Given the description of an element on the screen output the (x, y) to click on. 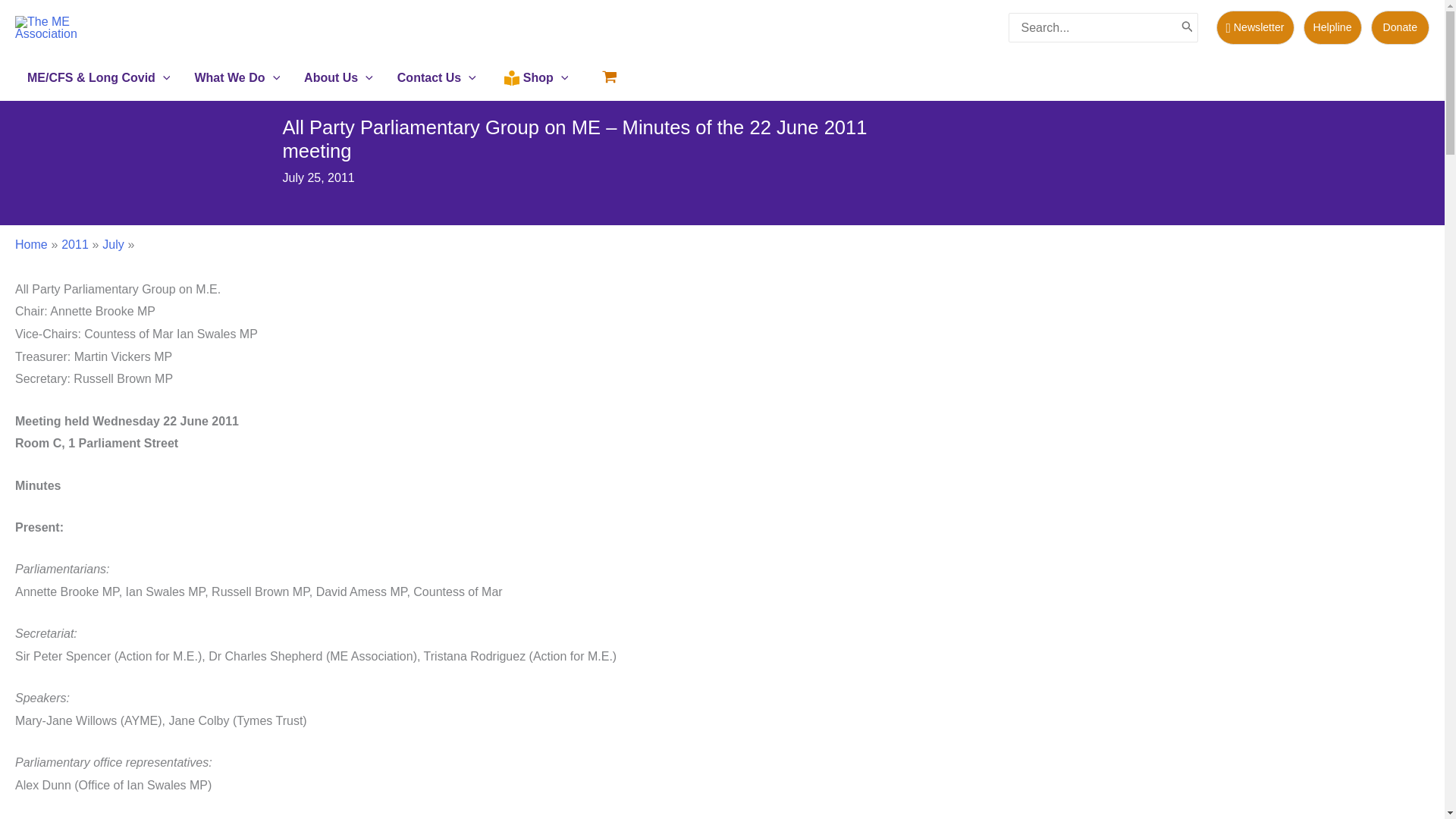
Newsletter (1259, 27)
Donate (1400, 27)
Donate (1400, 27)
Newsletter (1254, 27)
Helpline (1337, 27)
Search (1186, 27)
What We Do (237, 77)
Helpline (1332, 27)
